Given the description of an element on the screen output the (x, y) to click on. 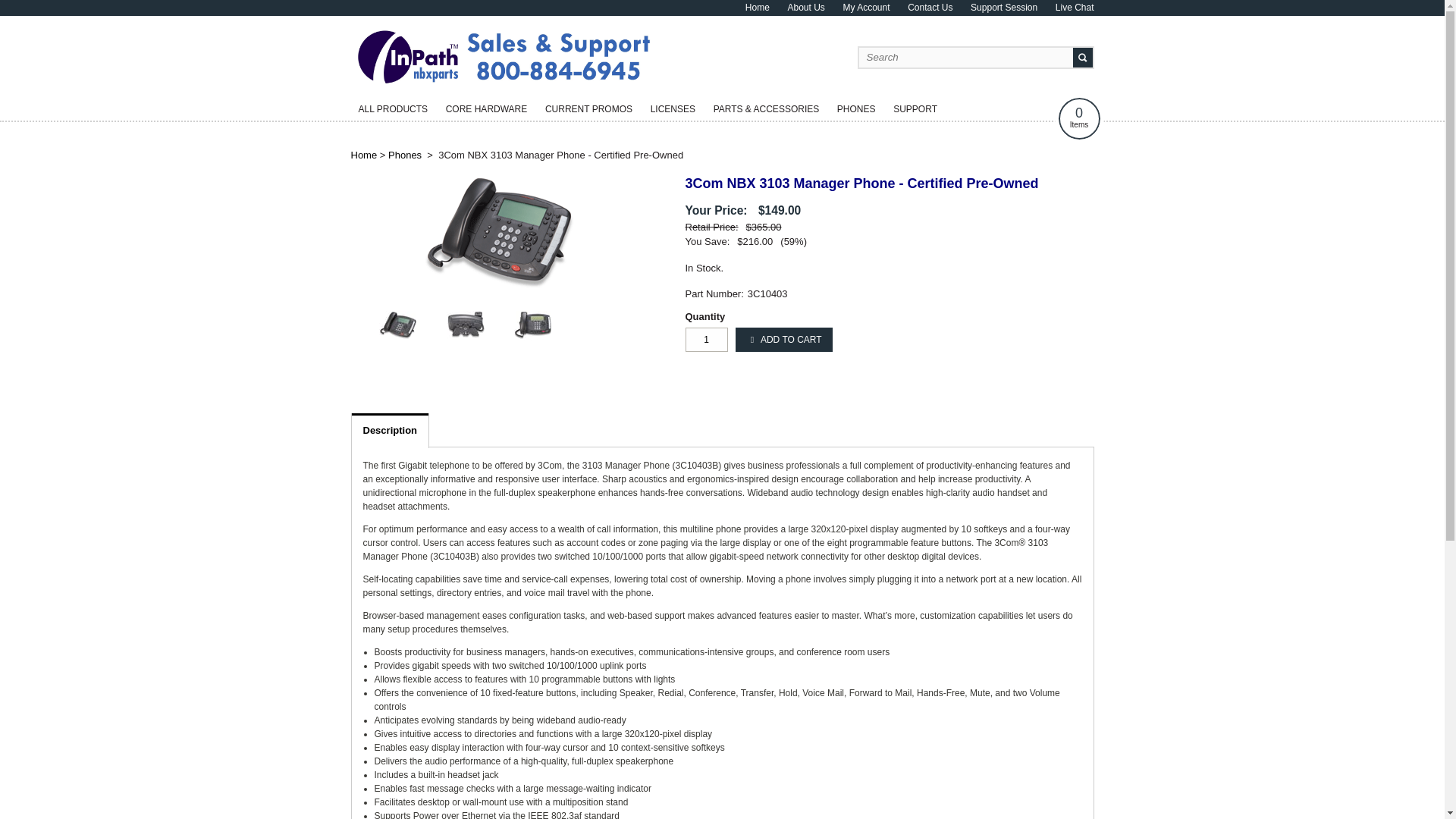
CORE HARDWARE (1079, 118)
SUPPORT (486, 108)
LICENSES (914, 108)
About Us (673, 108)
CURRENT PROMOS (805, 7)
home (588, 108)
NBXParts.com (502, 88)
My Account (502, 88)
Home (866, 7)
Contact Us (757, 7)
Support Session (929, 7)
Live Chat (1003, 7)
Phones (1074, 7)
ALL PRODUCTS (405, 154)
